Given the description of an element on the screen output the (x, y) to click on. 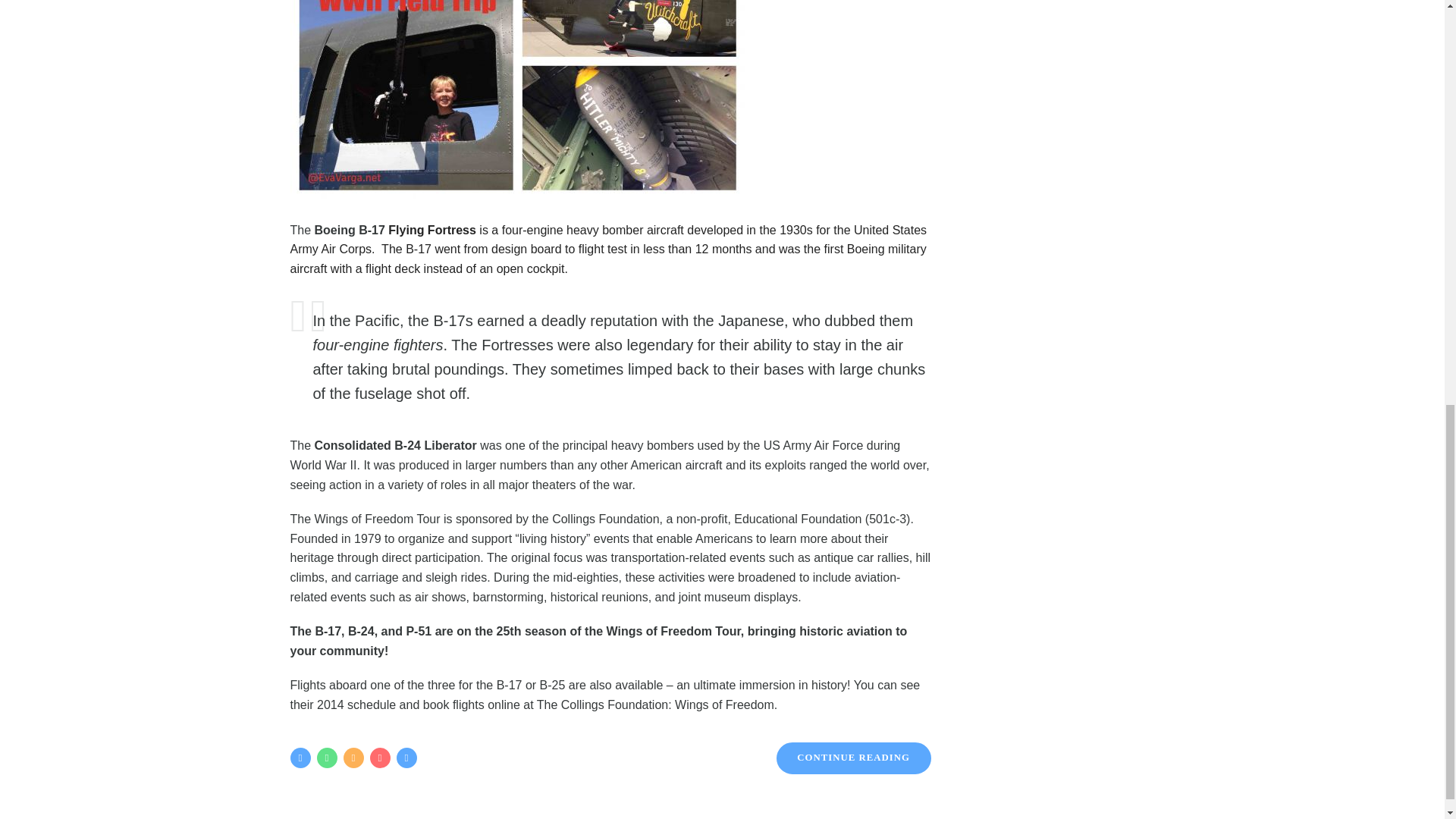
Collings Foundation: Wings of Freedom (655, 704)
Wings of Freedom Tour (377, 518)
CONTINUE READING (853, 757)
Collings Foundation: Wings of Freedom (377, 518)
The Collings Foundation: Wings of Freedom (655, 704)
